Given the description of an element on the screen output the (x, y) to click on. 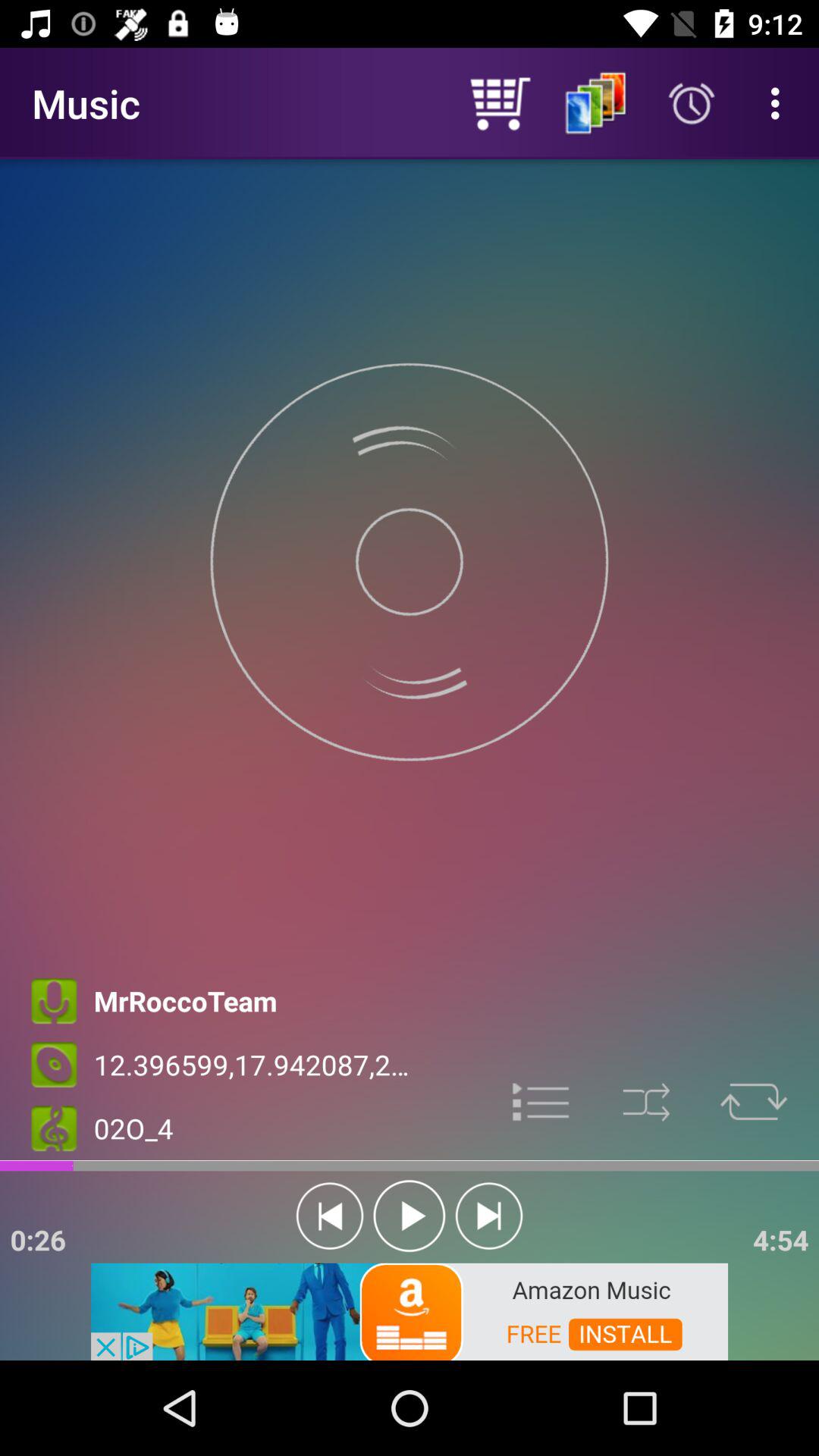
options (541, 1100)
